Given the description of an element on the screen output the (x, y) to click on. 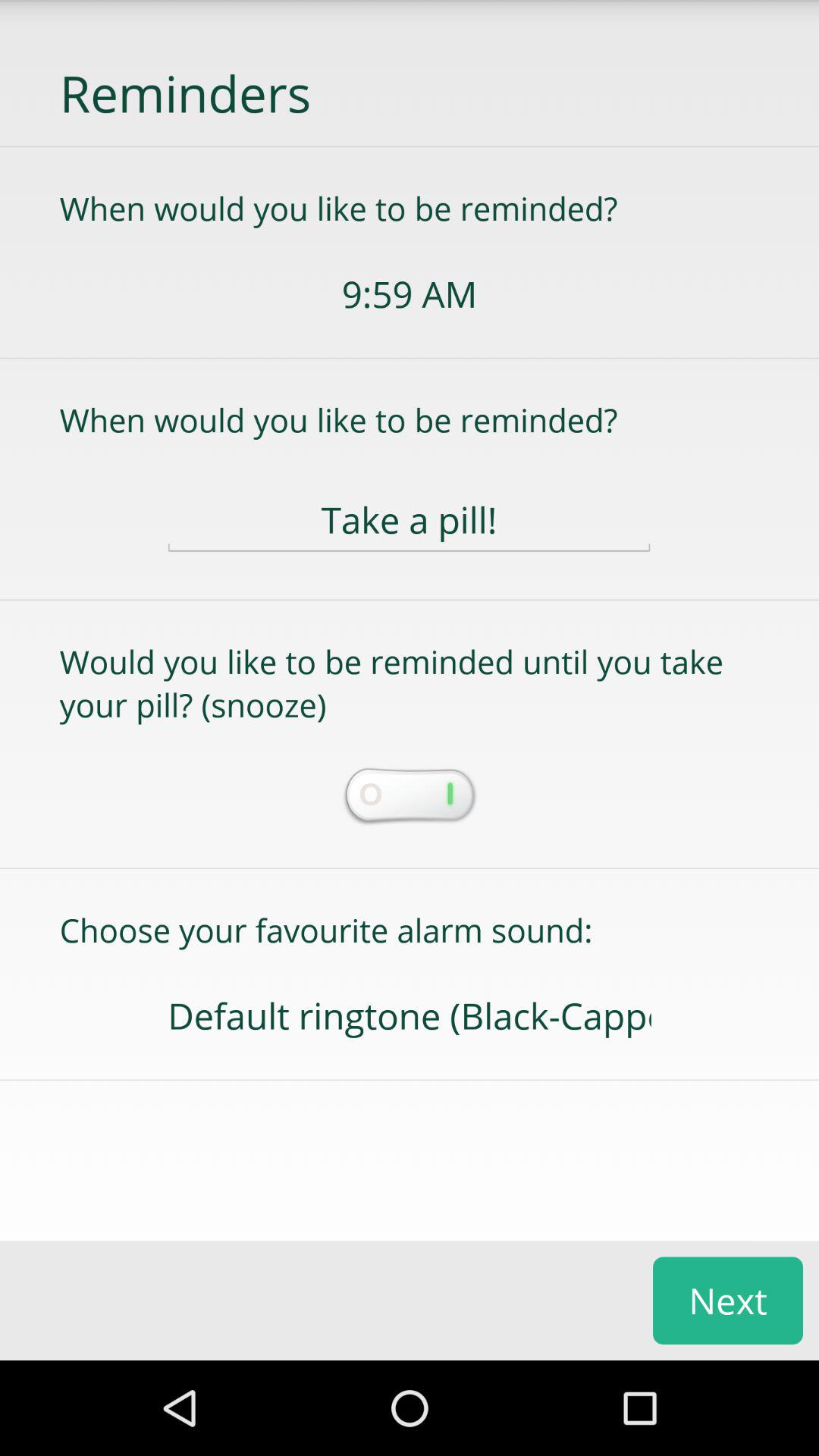
toggel reminder (408, 797)
